Given the description of an element on the screen output the (x, y) to click on. 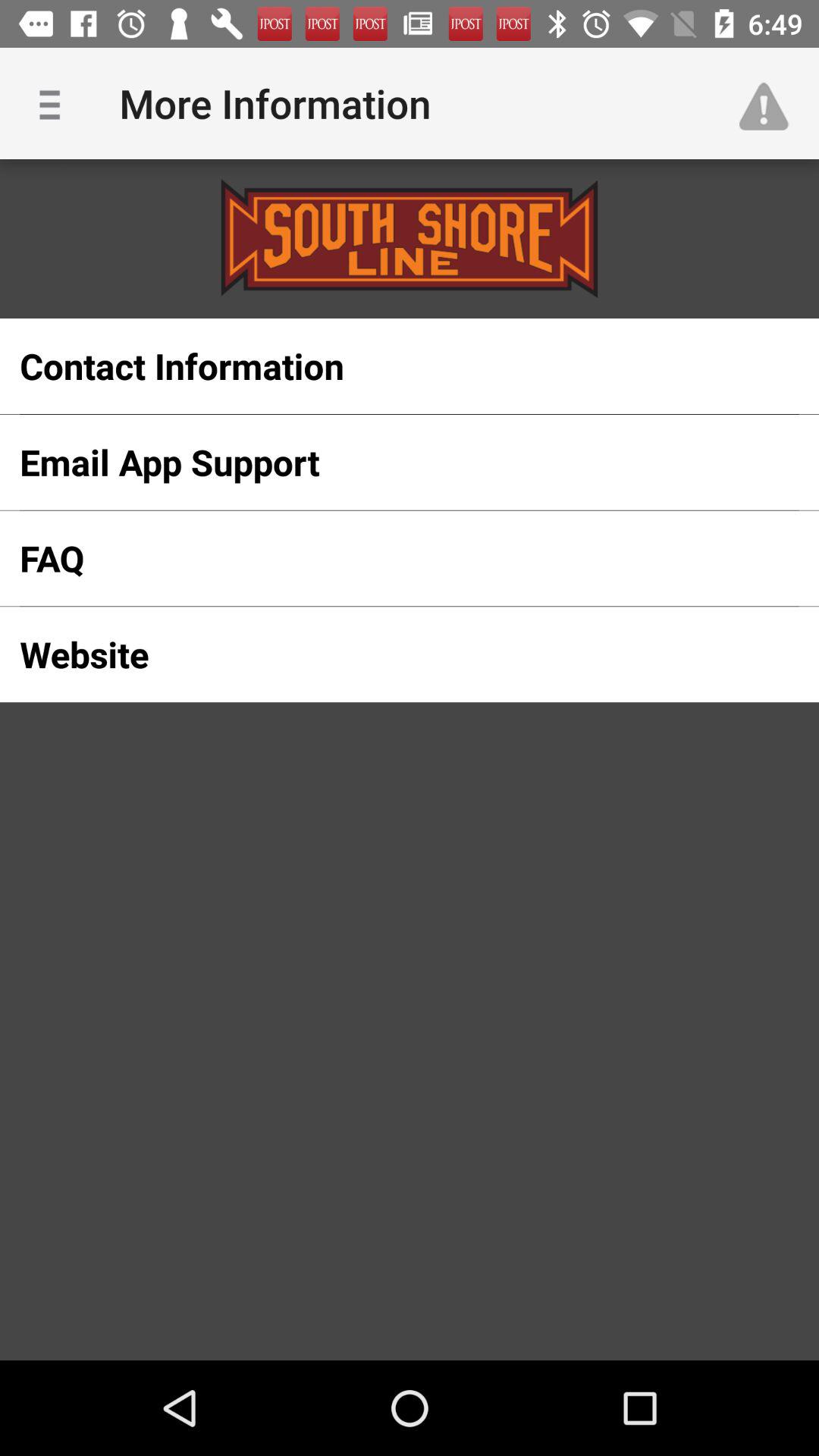
turn on the email app support item (385, 462)
